Given the description of an element on the screen output the (x, y) to click on. 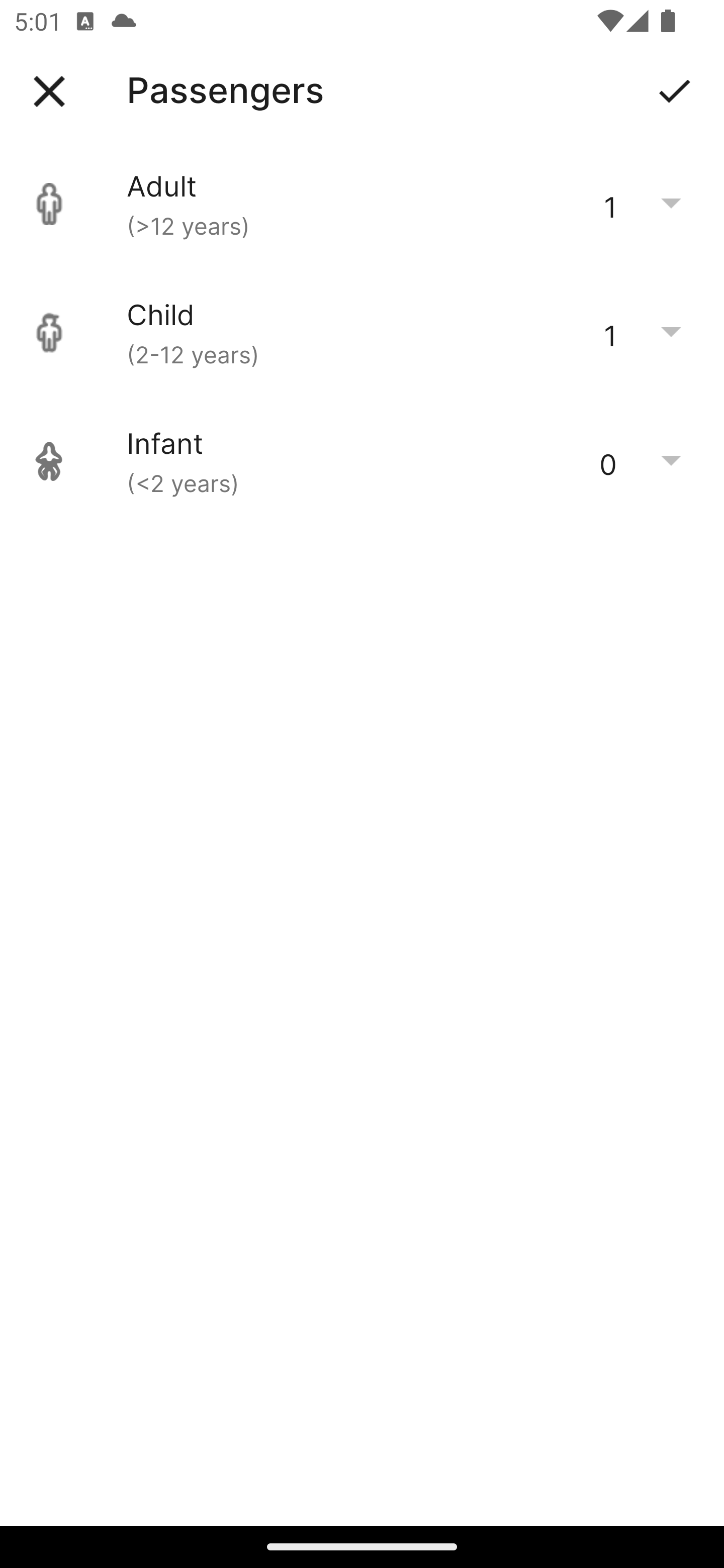
Adult (>12 years) 1 (362, 204)
Child (2-12 years) 1 (362, 332)
Infant (<2 years) 0 (362, 461)
